Given the description of an element on the screen output the (x, y) to click on. 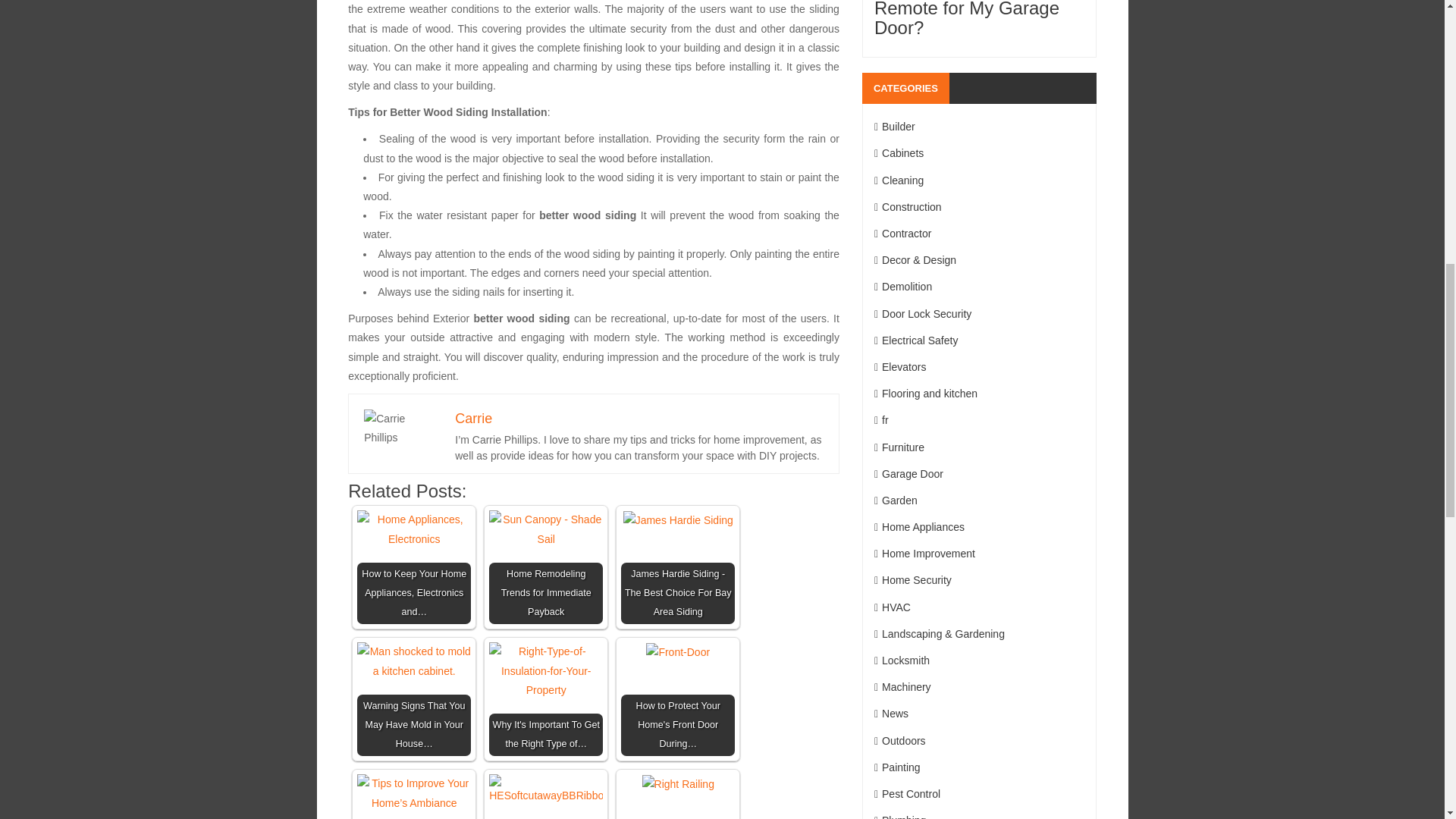
Carrie (473, 418)
Home Remodeling Trends for Immediate Payback (545, 528)
Home Remodeling Trends for Immediate Payback (545, 567)
Signs That You May Need a Home Water Softener (545, 796)
James Hardie Siding - The Best Choice For Bay Area Siding (678, 520)
Carrie Phillips (401, 428)
James Hardie Siding - The Best Choice For Bay Area Siding (678, 567)
